Given the description of an element on the screen output the (x, y) to click on. 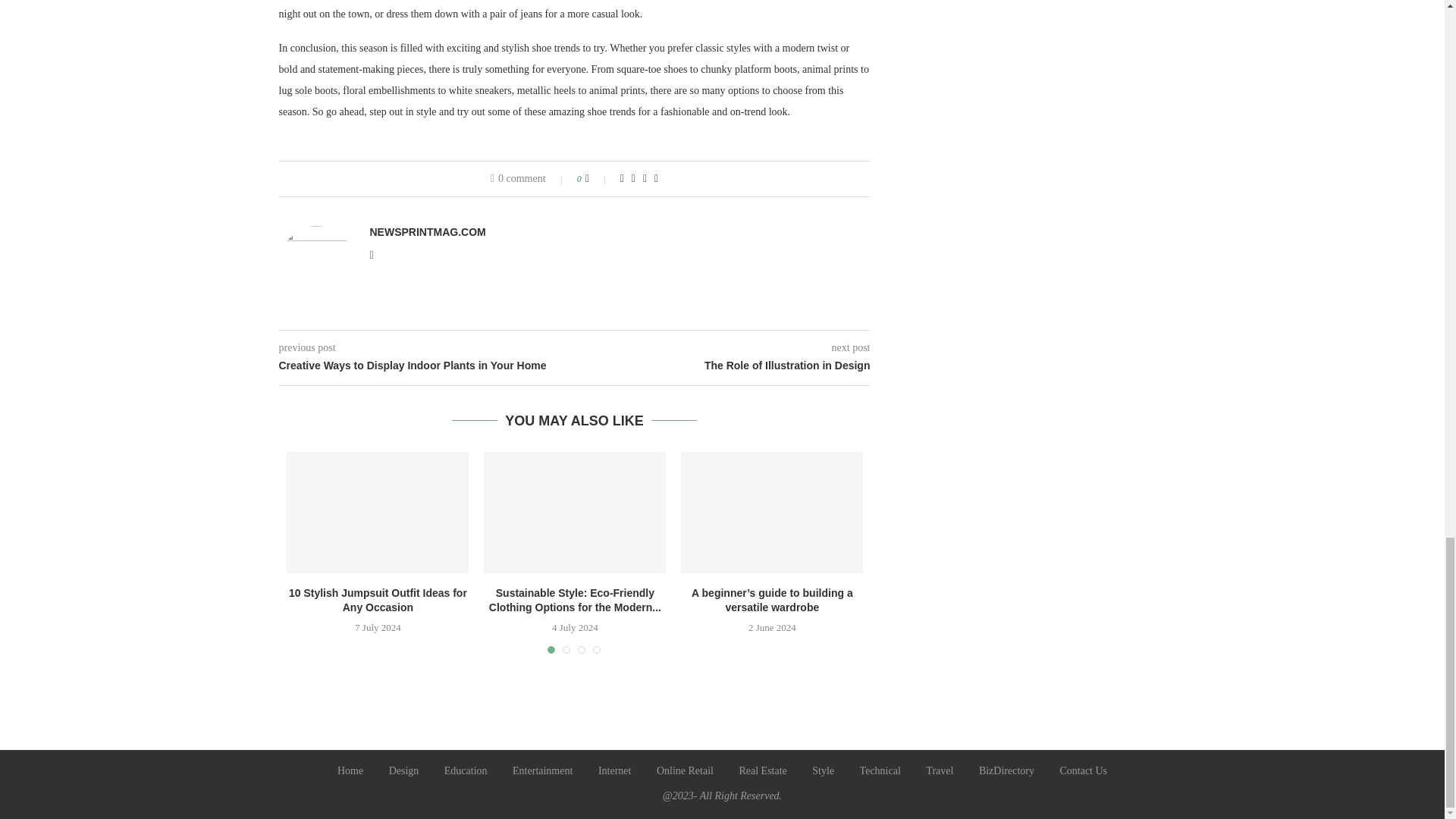
10 Stylish Jumpsuit Outfit Ideas for Any Occasion (377, 512)
Like (597, 178)
Author newsprintmag.com (427, 232)
